Given the description of an element on the screen output the (x, y) to click on. 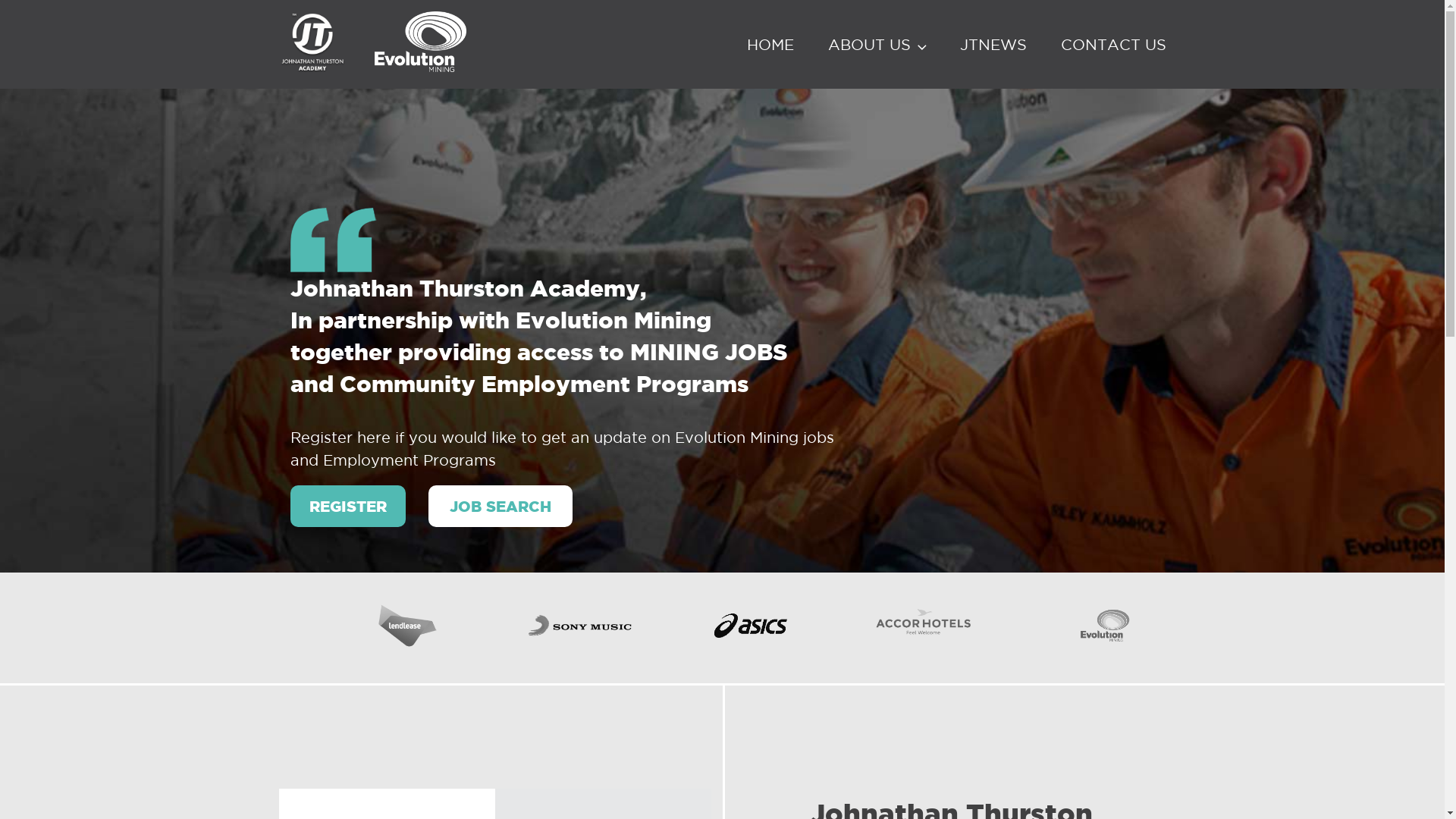
REGISTER Element type: text (346, 506)
CONTACT US Element type: text (1112, 44)
ABOUT US Element type: text (876, 44)
JOB SEARCH Element type: text (499, 506)
JTNEWS Element type: text (993, 44)
HOME Element type: text (769, 44)
